Given the description of an element on the screen output the (x, y) to click on. 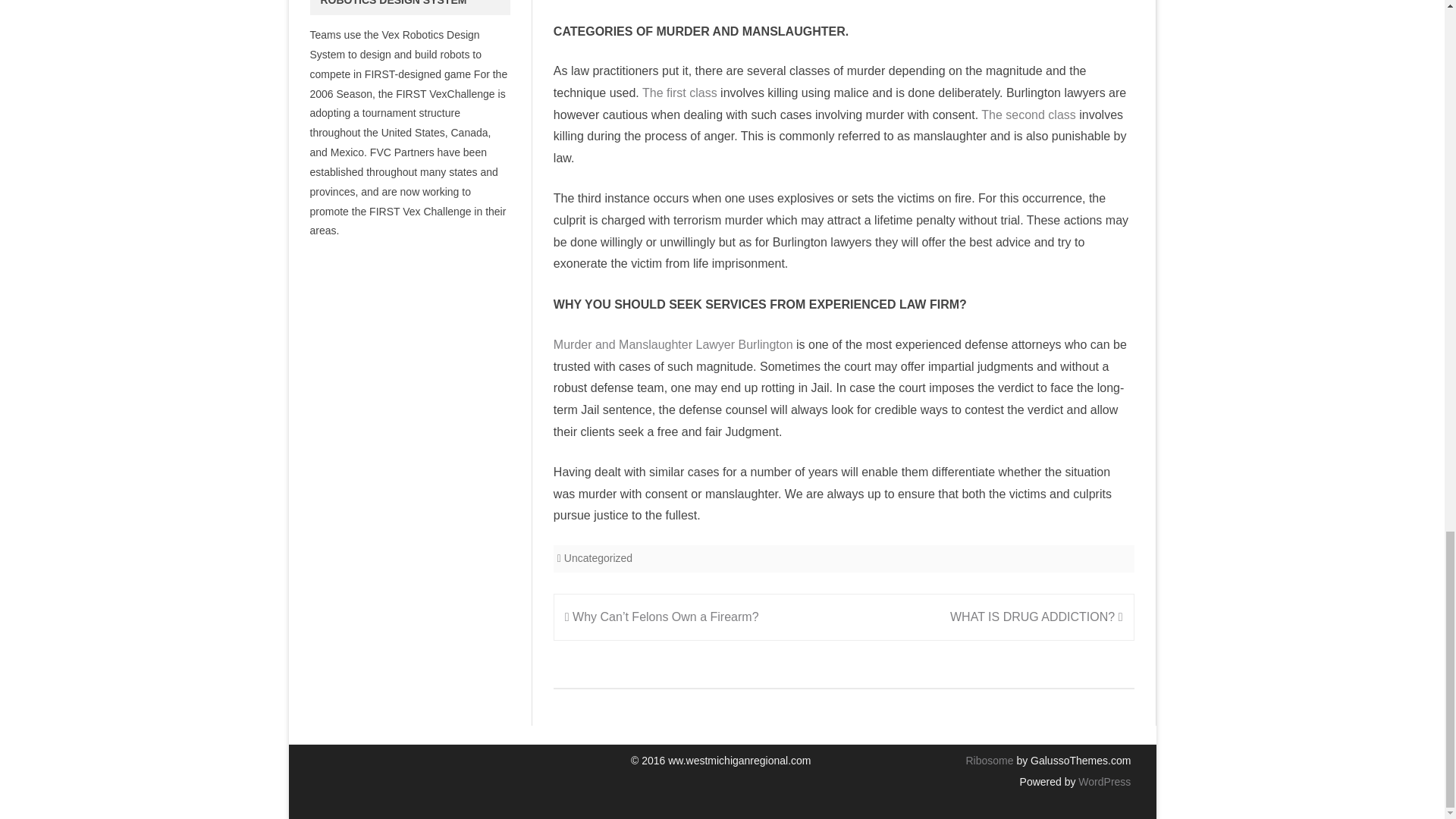
WordPress (1103, 781)
WHAT IS DRUG ADDICTION? (1036, 616)
Murder and Manslaughter Lawyer Burlington (673, 344)
Ribosome (989, 760)
The second class (1028, 114)
Uncategorized (597, 558)
Semantic Personal Publishing Platform (1103, 781)
The first class (679, 92)
